Given the description of an element on the screen output the (x, y) to click on. 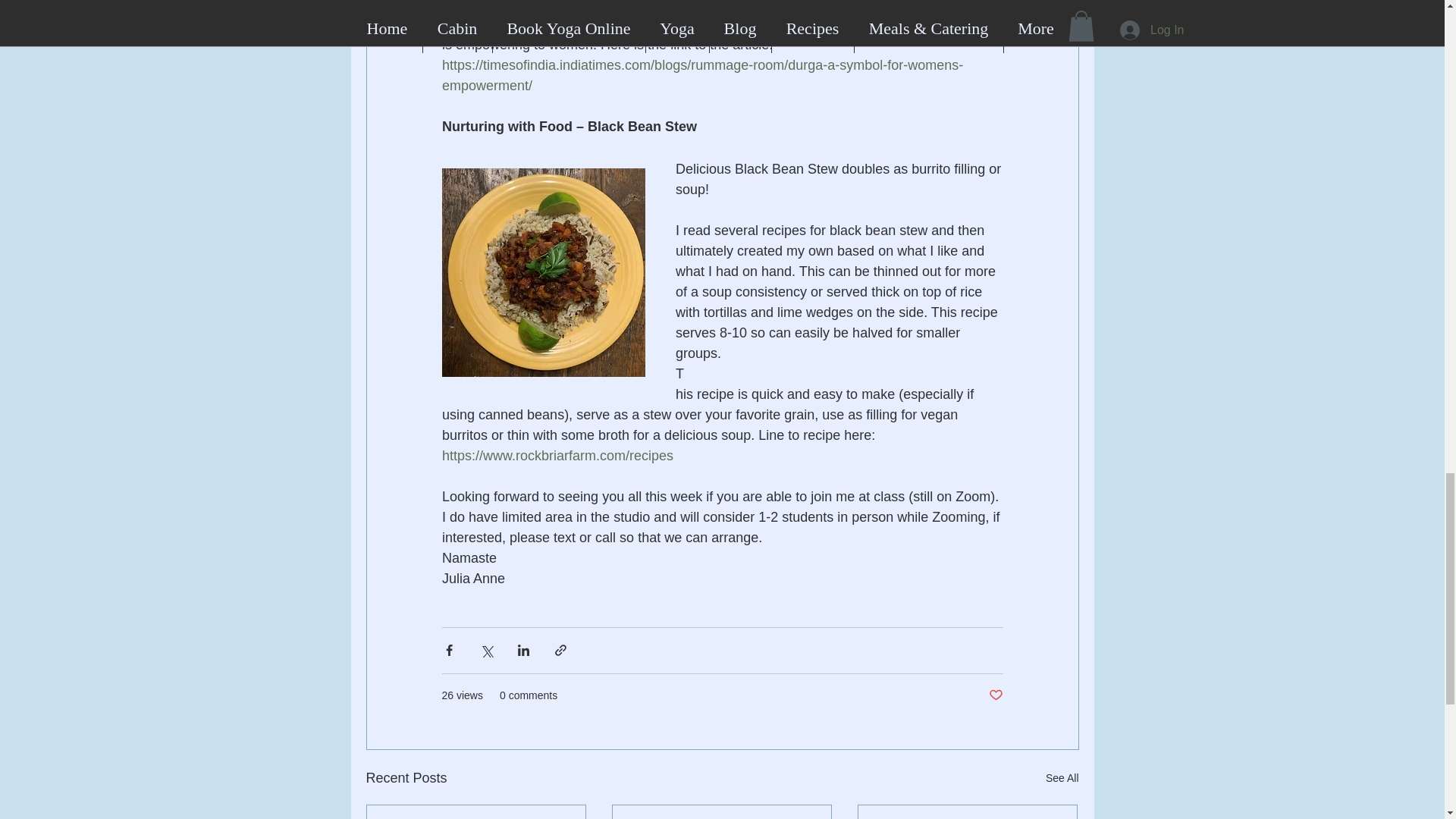
Post not marked as liked (995, 695)
See All (1061, 778)
